Given the description of an element on the screen output the (x, y) to click on. 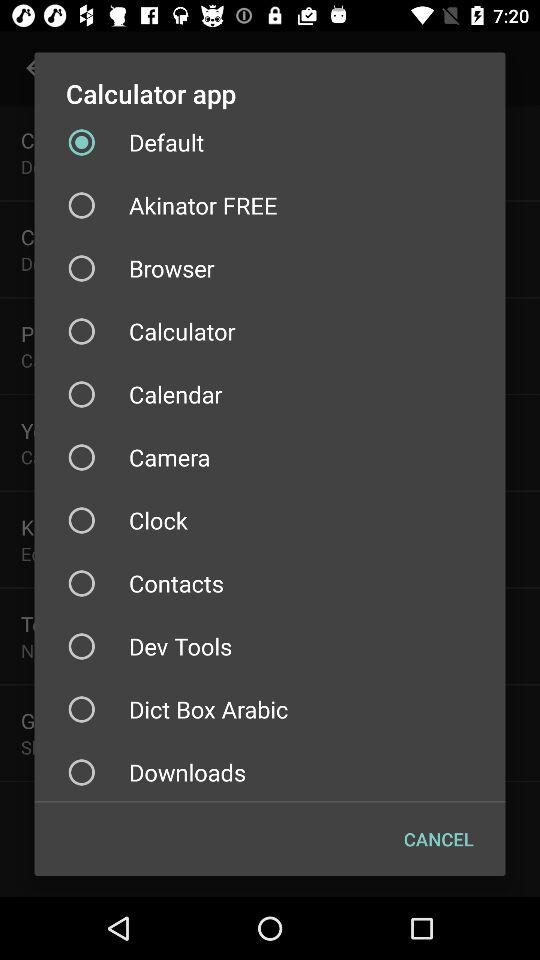
choose item below downloads item (438, 838)
